Given the description of an element on the screen output the (x, y) to click on. 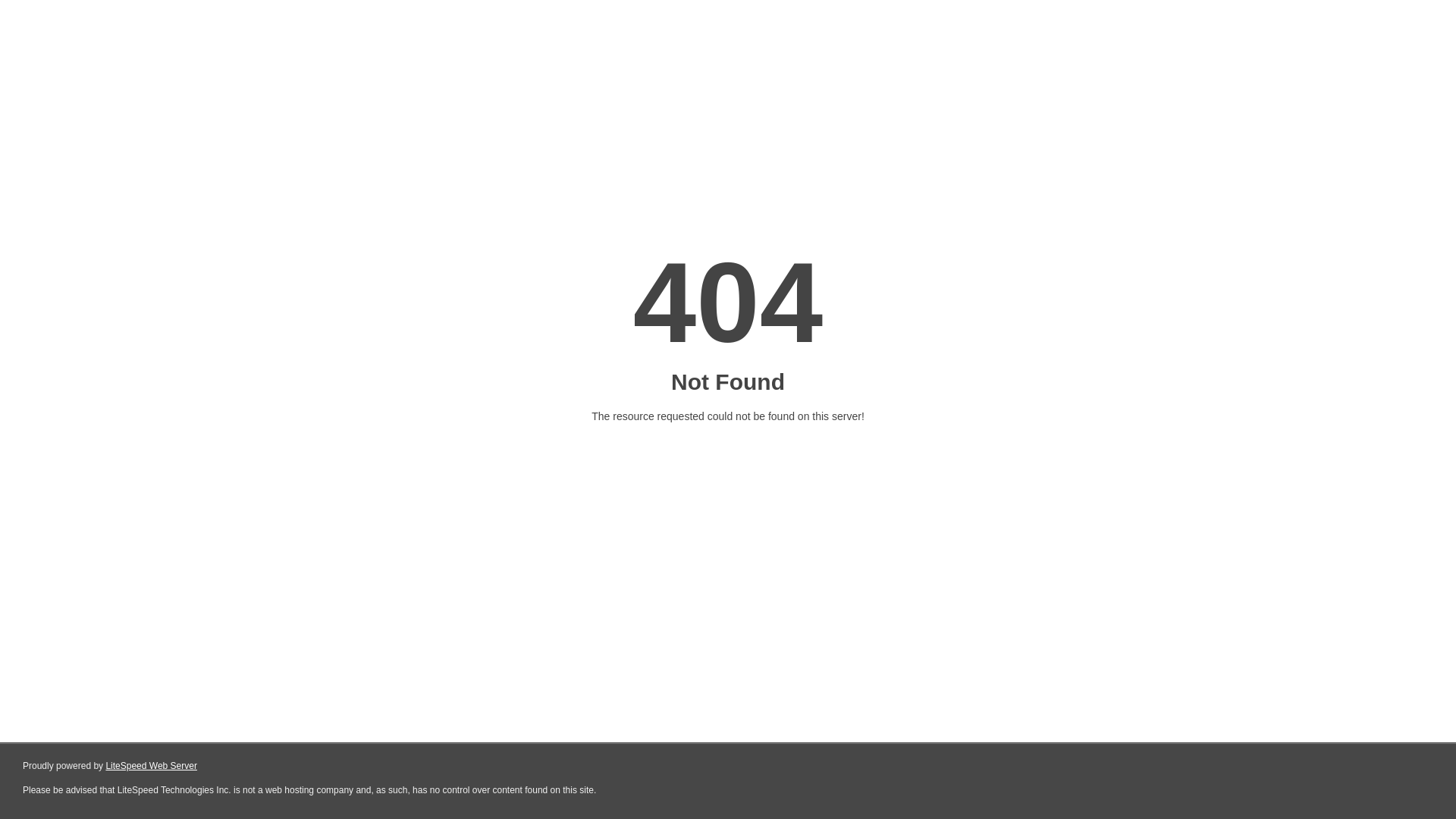
LiteSpeed Web Server Element type: text (151, 765)
